Given the description of an element on the screen output the (x, y) to click on. 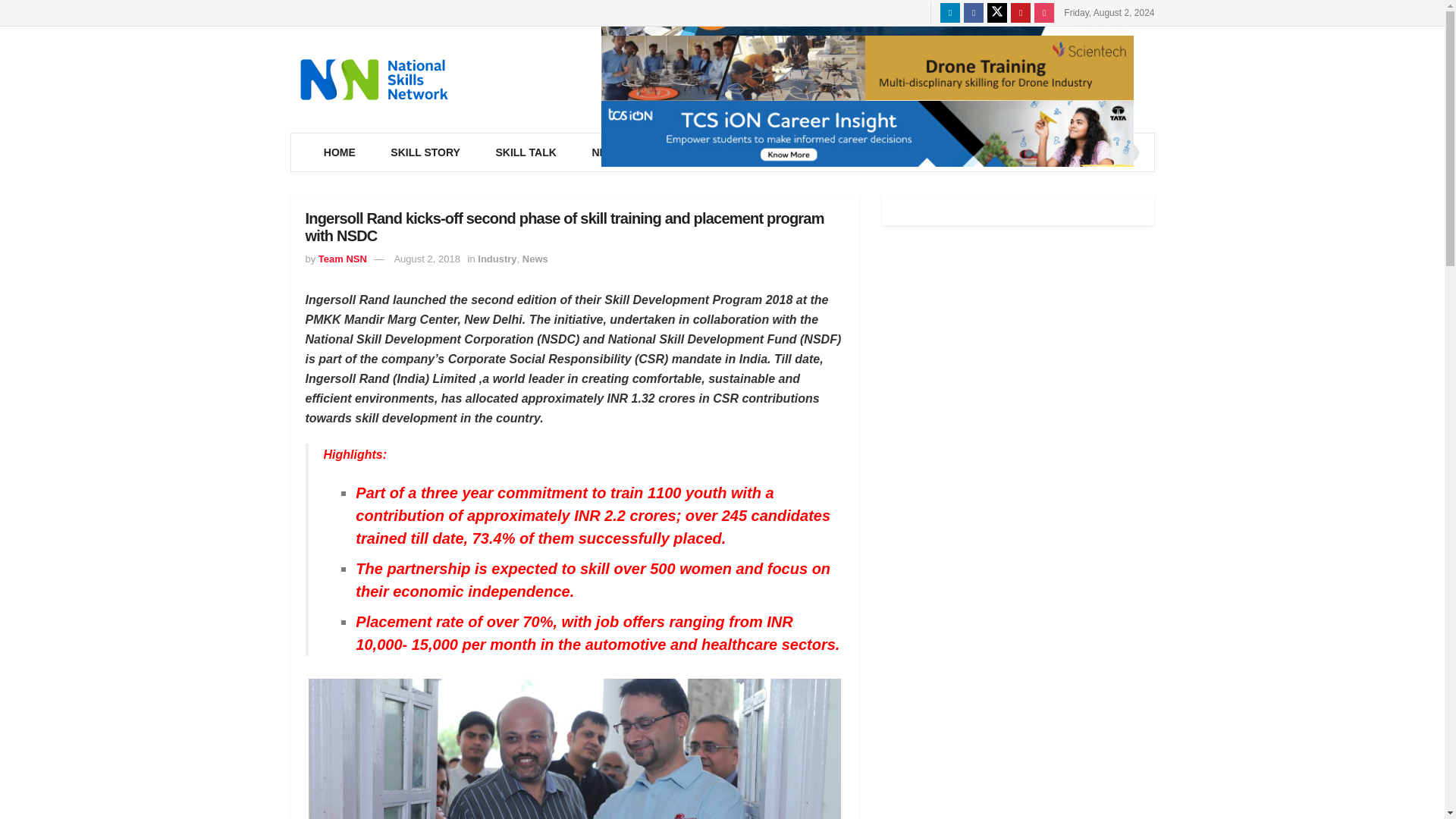
NEWS (609, 152)
SKILL STORY (424, 152)
SKILL TALK (525, 152)
RESOURCES (700, 152)
SKILL2JOBS (807, 152)
ABOUT US (908, 152)
SUCCESS STORIES (1024, 152)
HOME (339, 152)
Drone PNG (865, 68)
